Given the description of an element on the screen output the (x, y) to click on. 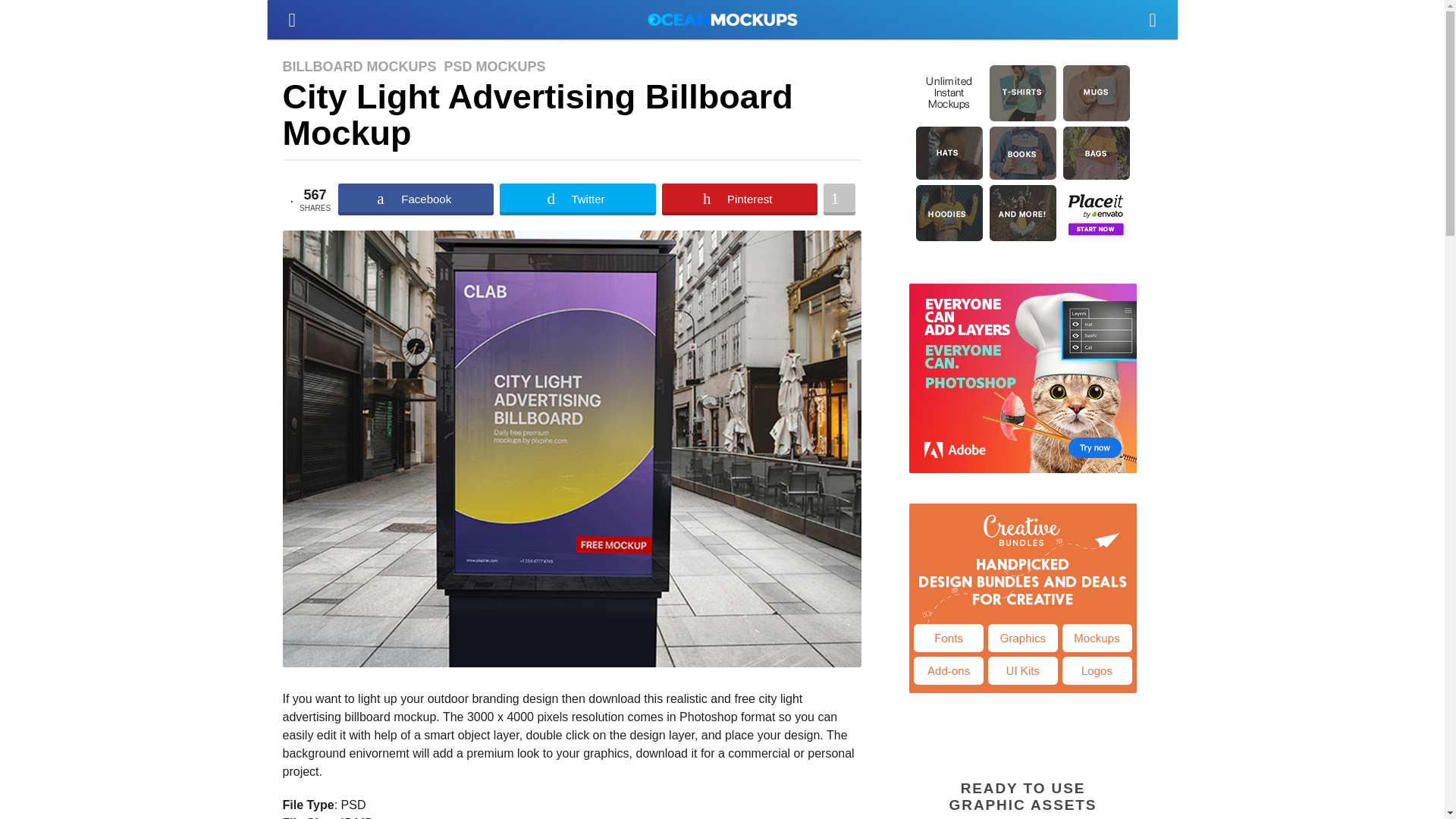
Share on More Button (840, 199)
Share on Twitter (577, 199)
Share on Facebook (415, 199)
Share on Pinterest (739, 199)
